Given the description of an element on the screen output the (x, y) to click on. 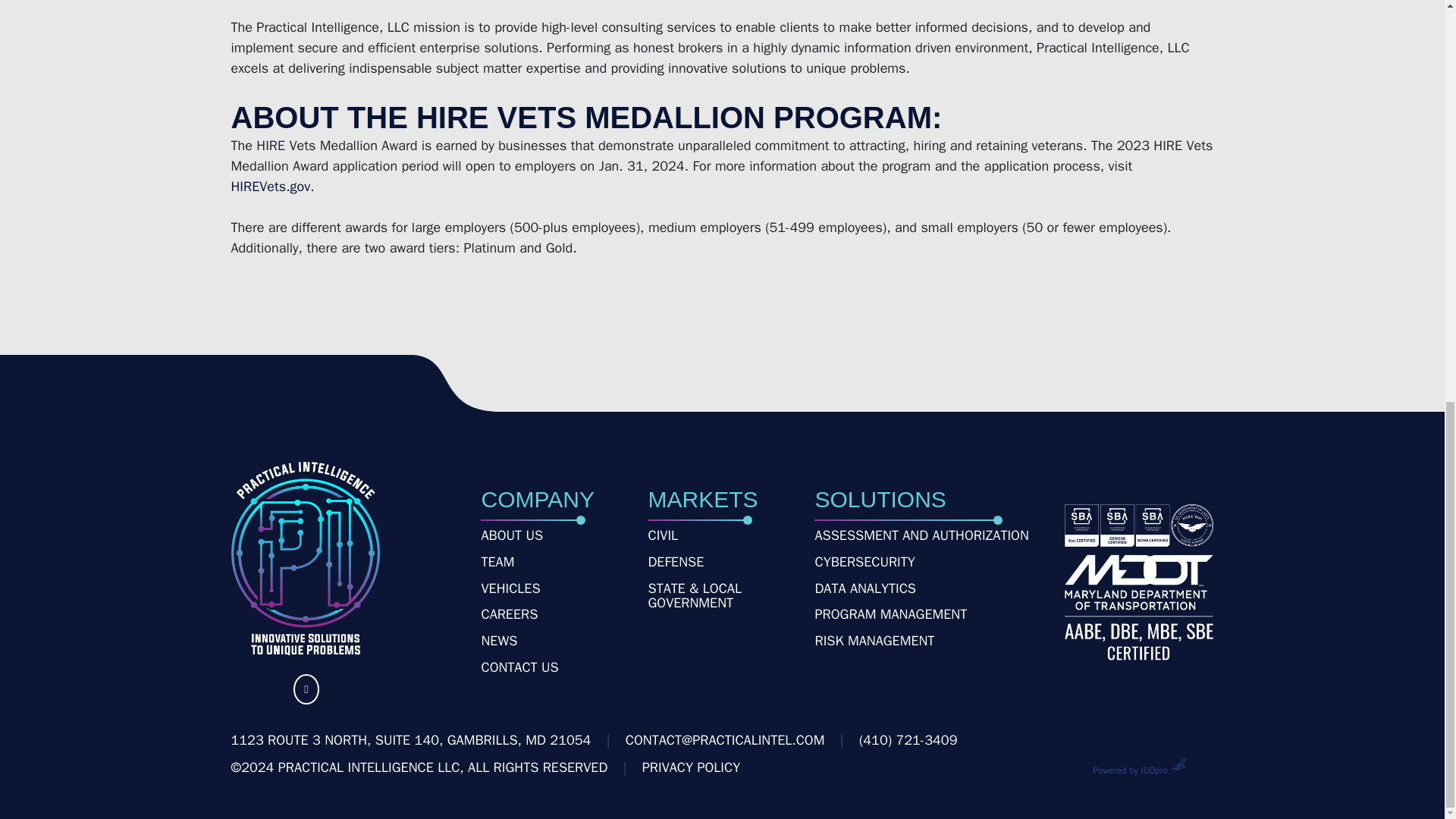
DATA ANALYTICS (864, 589)
ABOUT US (511, 535)
PROGRAM MANAGEMENT (889, 614)
ASSESSMENT AND AUTHORIZATION (920, 535)
NEWS (498, 641)
DEFENSE (675, 562)
CAREERS (508, 614)
TEAM (496, 562)
VEHICLES (510, 589)
CIVIL (662, 535)
